Given the description of an element on the screen output the (x, y) to click on. 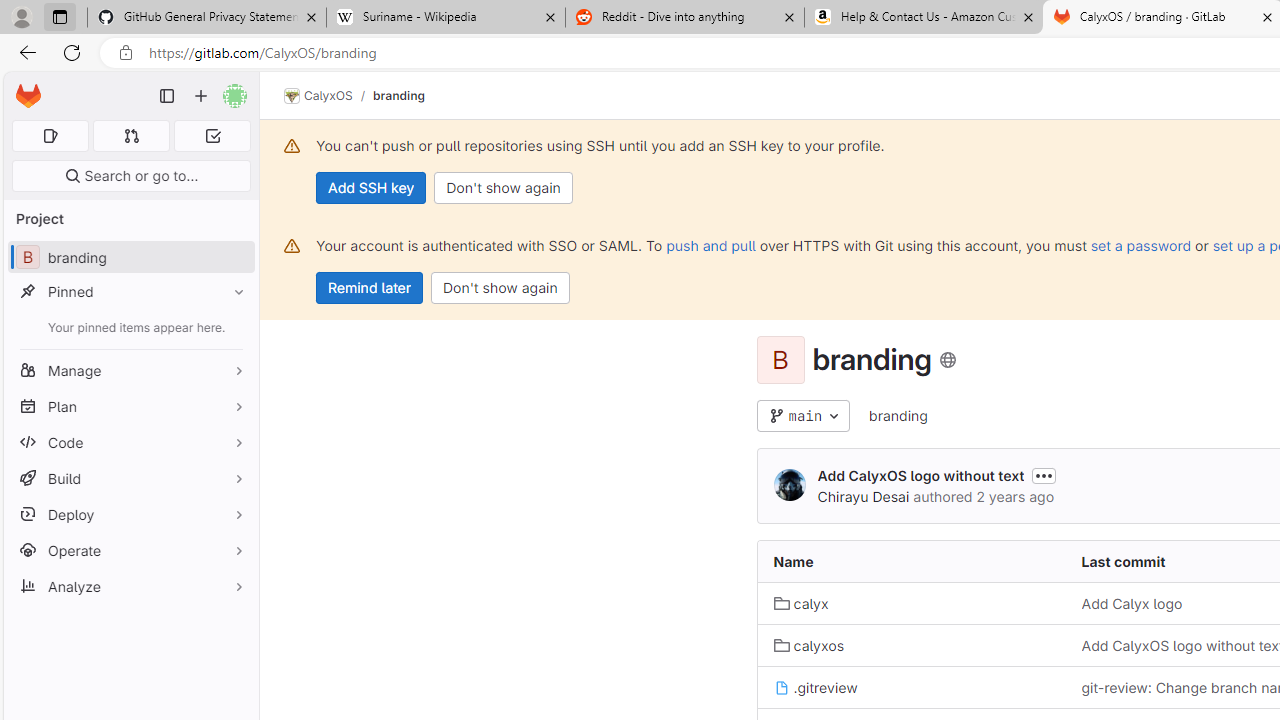
Remind later (369, 287)
Toggle commit description (1044, 475)
Deploy (130, 514)
Pinned (130, 291)
Don't show again (500, 287)
B branding (130, 257)
calyx (801, 603)
Class: s16 icon (947, 359)
Code (130, 442)
Analyze (130, 586)
Class: s16 gl-alert-icon gl-alert-icon-no-title (291, 246)
Assigned issues 0 (50, 136)
Plan (130, 406)
Primary navigation sidebar (167, 96)
